Given the description of an element on the screen output the (x, y) to click on. 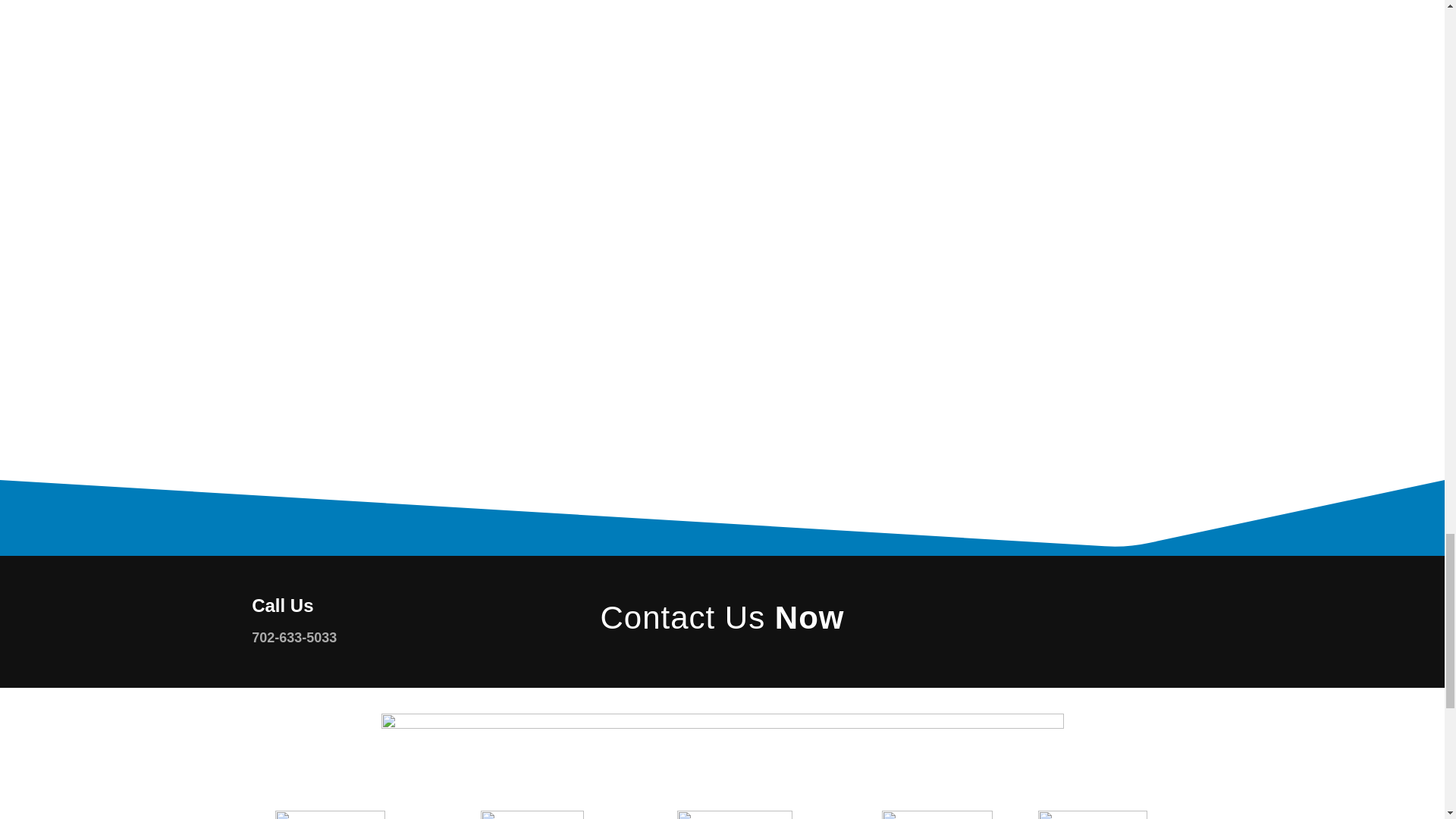
facebook-reviews (1092, 814)
BOTTOMLOGOS (721, 748)
yelp-reviews (531, 814)
google-reviews (330, 814)
zillow-reviews (937, 814)
bbb (734, 814)
